Given the description of an element on the screen output the (x, y) to click on. 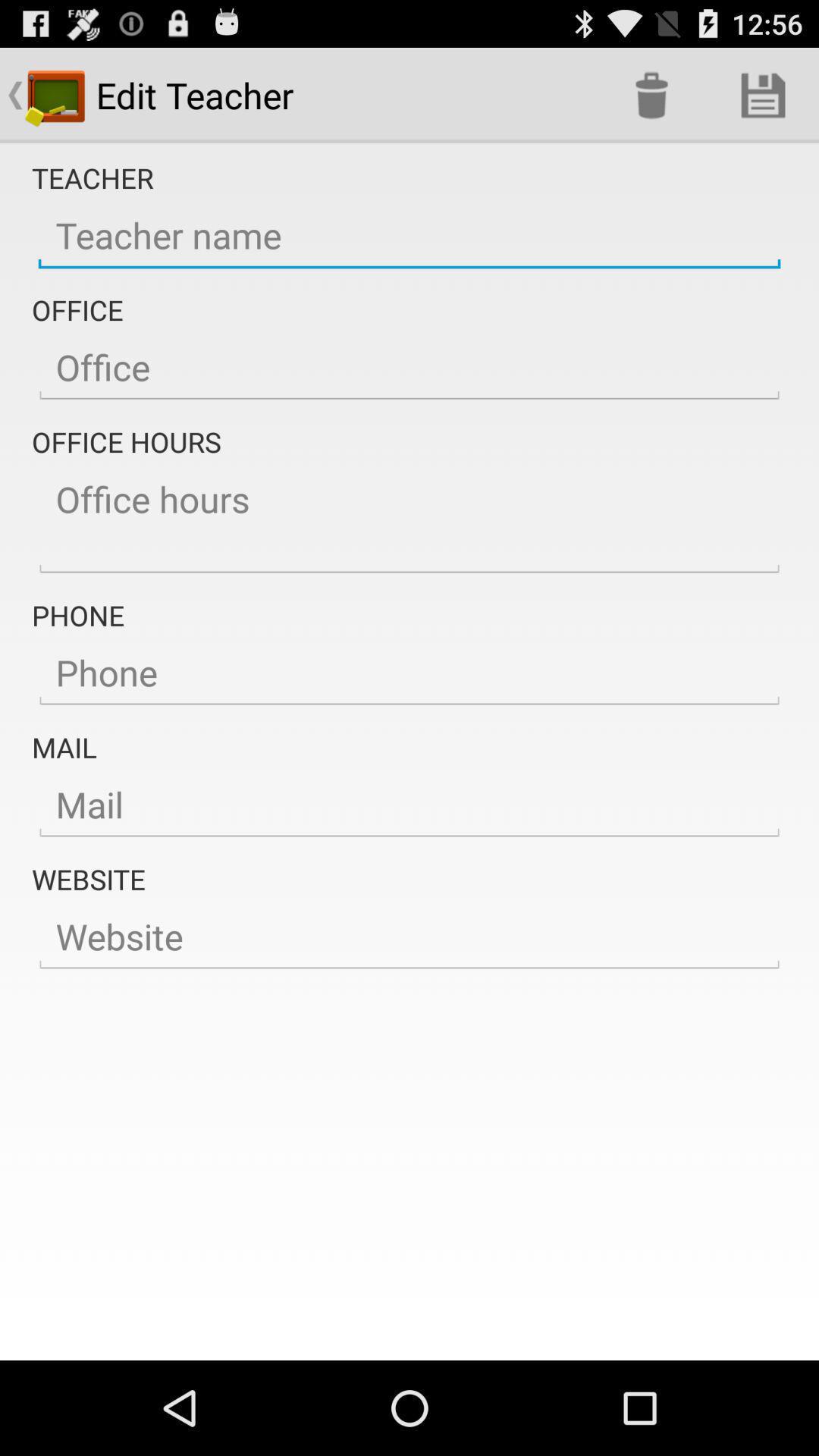
enter office hours (409, 520)
